Given the description of an element on the screen output the (x, y) to click on. 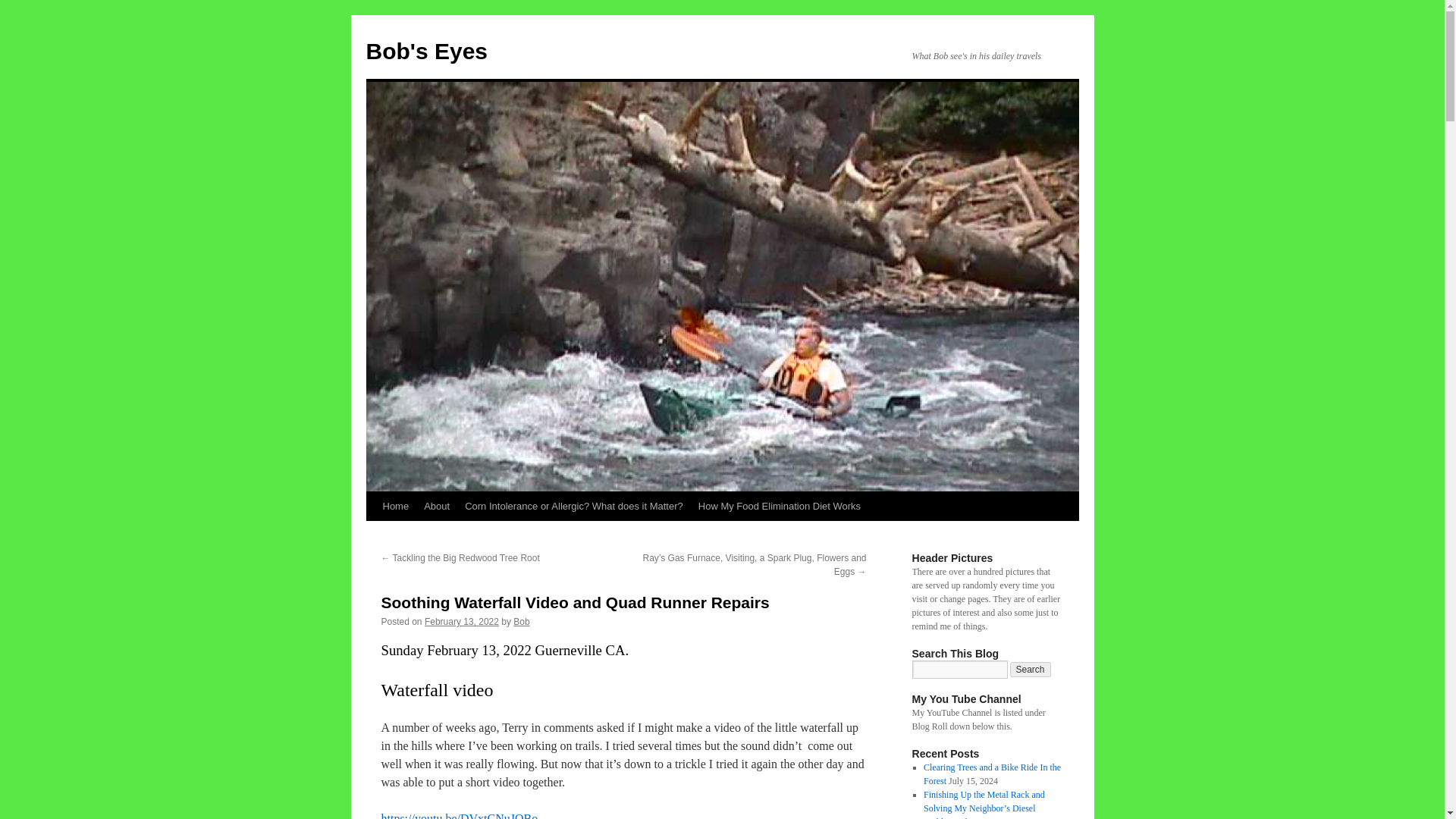
9:31 pm (462, 621)
Search (1030, 669)
Bob's Eyes (426, 50)
Search (1030, 669)
Bob (521, 621)
Clearing Trees and a Bike Ride In the Forest (992, 774)
How My Food Elimination Diet Works (778, 506)
View all posts by Bob (521, 621)
Home (395, 506)
Corn Intolerance or Allergic? What does it Matter? (573, 506)
February 13, 2022 (462, 621)
About (436, 506)
